Given the description of an element on the screen output the (x, y) to click on. 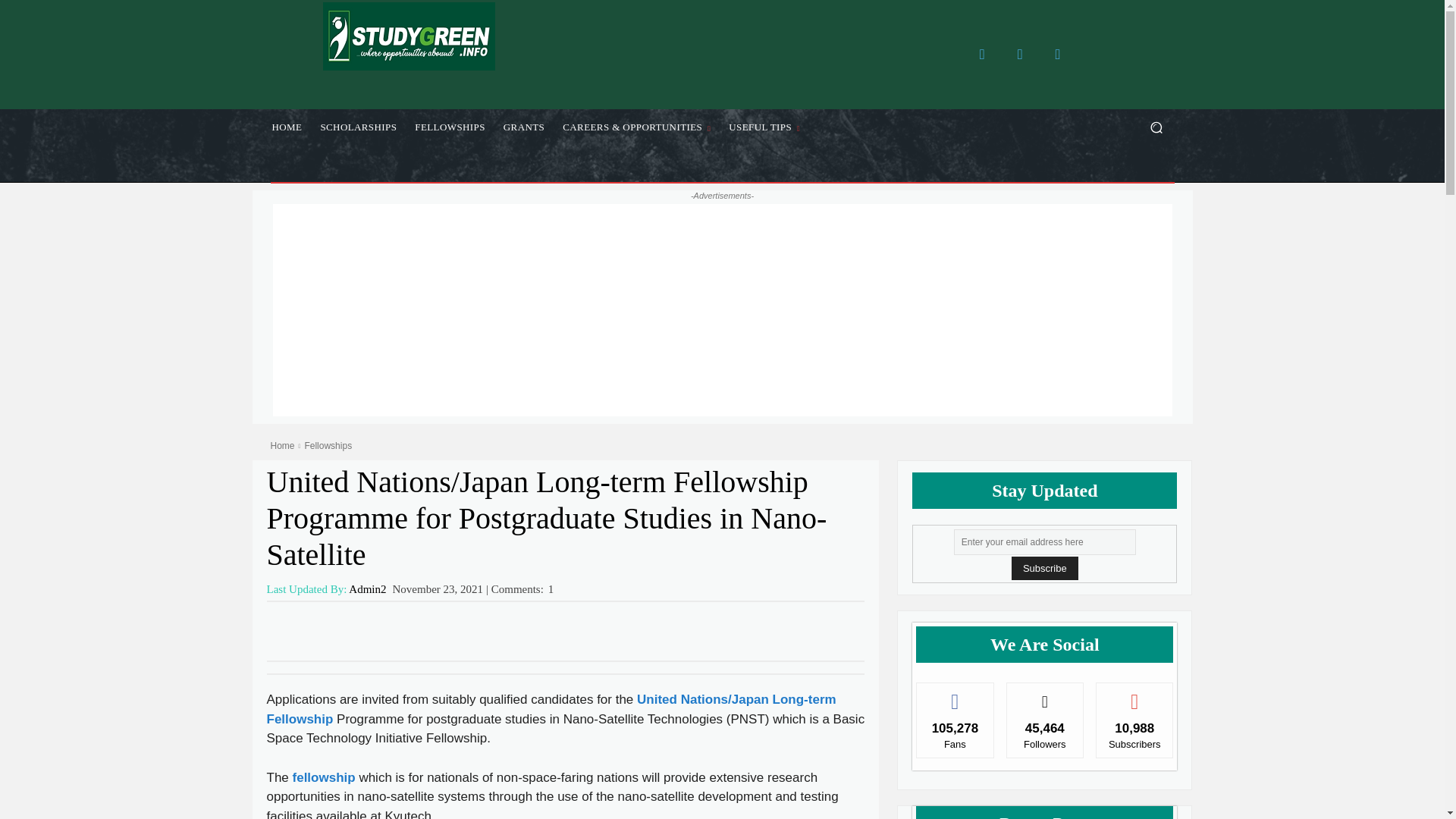
FELLOWSHIPS (450, 126)
GRANTS (524, 126)
Facebook (981, 54)
Twitter (1019, 54)
HOME (286, 126)
Telegram (1057, 54)
Admin2 (367, 589)
Where opportunities abound... (408, 36)
USEFUL TIPS (764, 126)
Home (281, 445)
